Given the description of an element on the screen output the (x, y) to click on. 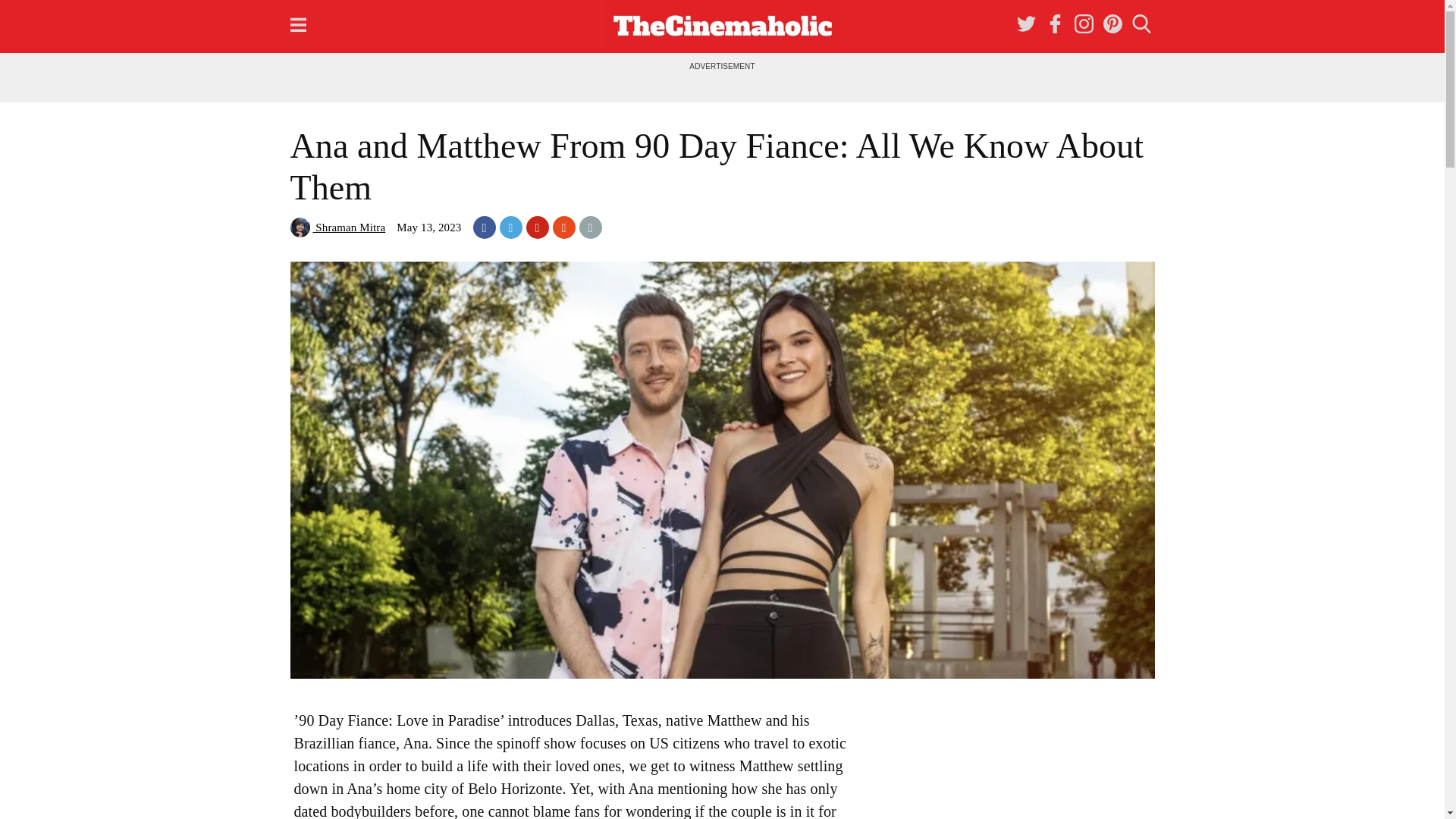
Shraman Mitra (337, 227)
